Given the description of an element on the screen output the (x, y) to click on. 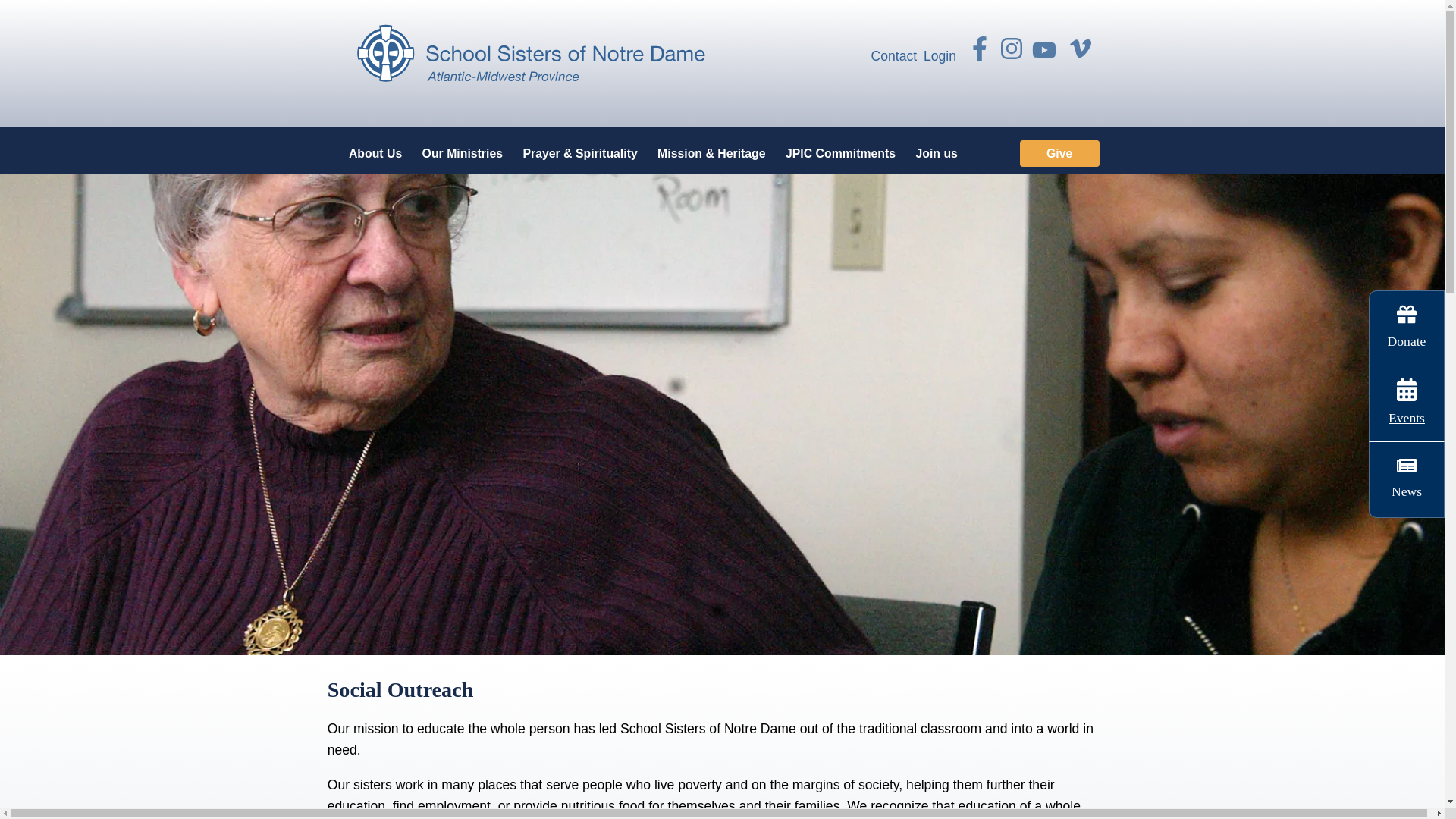
About Us (375, 153)
JPIC Commitments (840, 153)
Login (939, 55)
Our Ministries (462, 153)
Contact (893, 55)
